Given the description of an element on the screen output the (x, y) to click on. 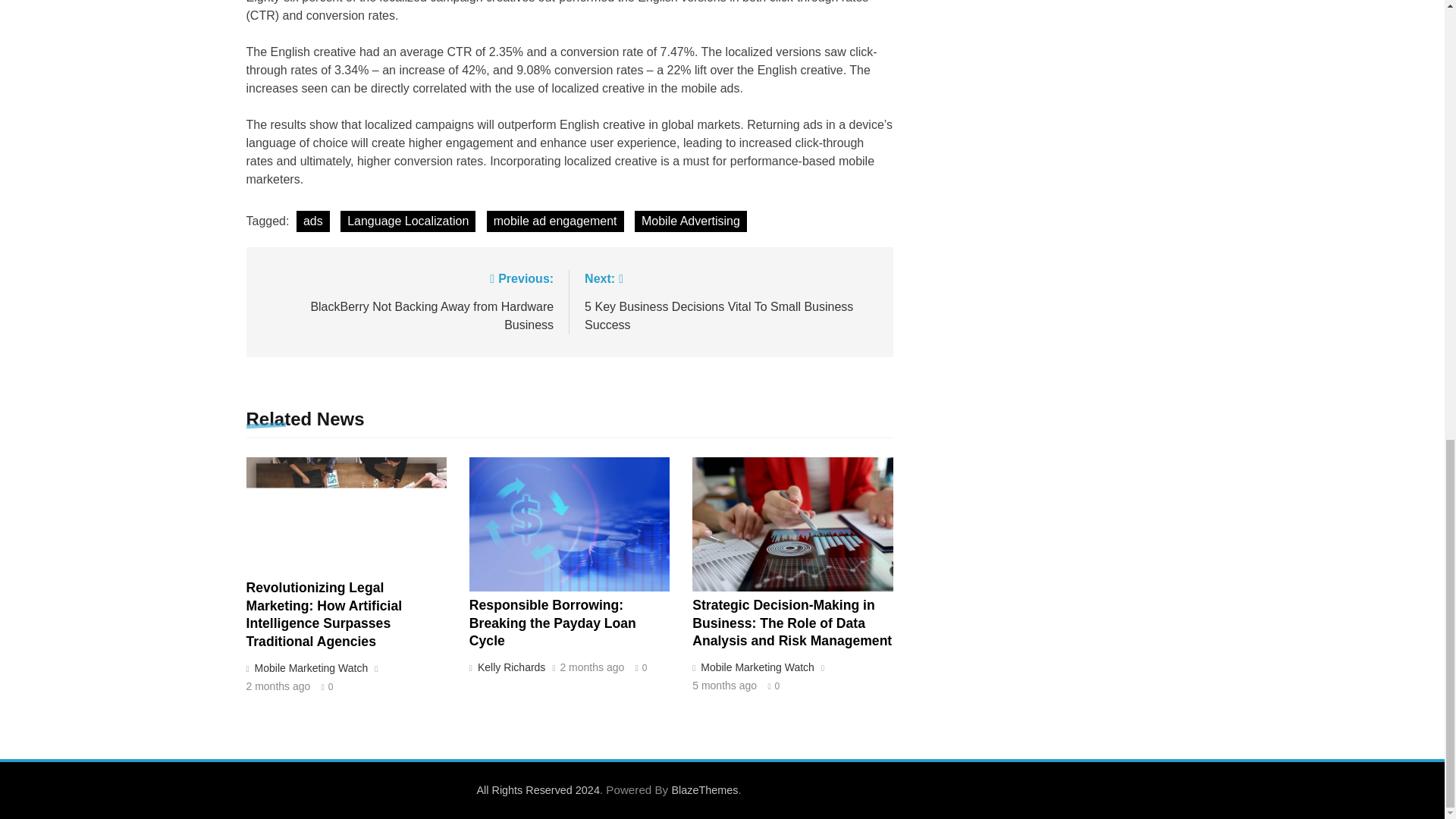
Mobile Marketing Watch (756, 666)
2 months ago (591, 667)
ads (313, 220)
Kelly Richards (509, 666)
Language Localization (408, 220)
Mobile Advertising (690, 220)
2 months ago (278, 686)
